Given the description of an element on the screen output the (x, y) to click on. 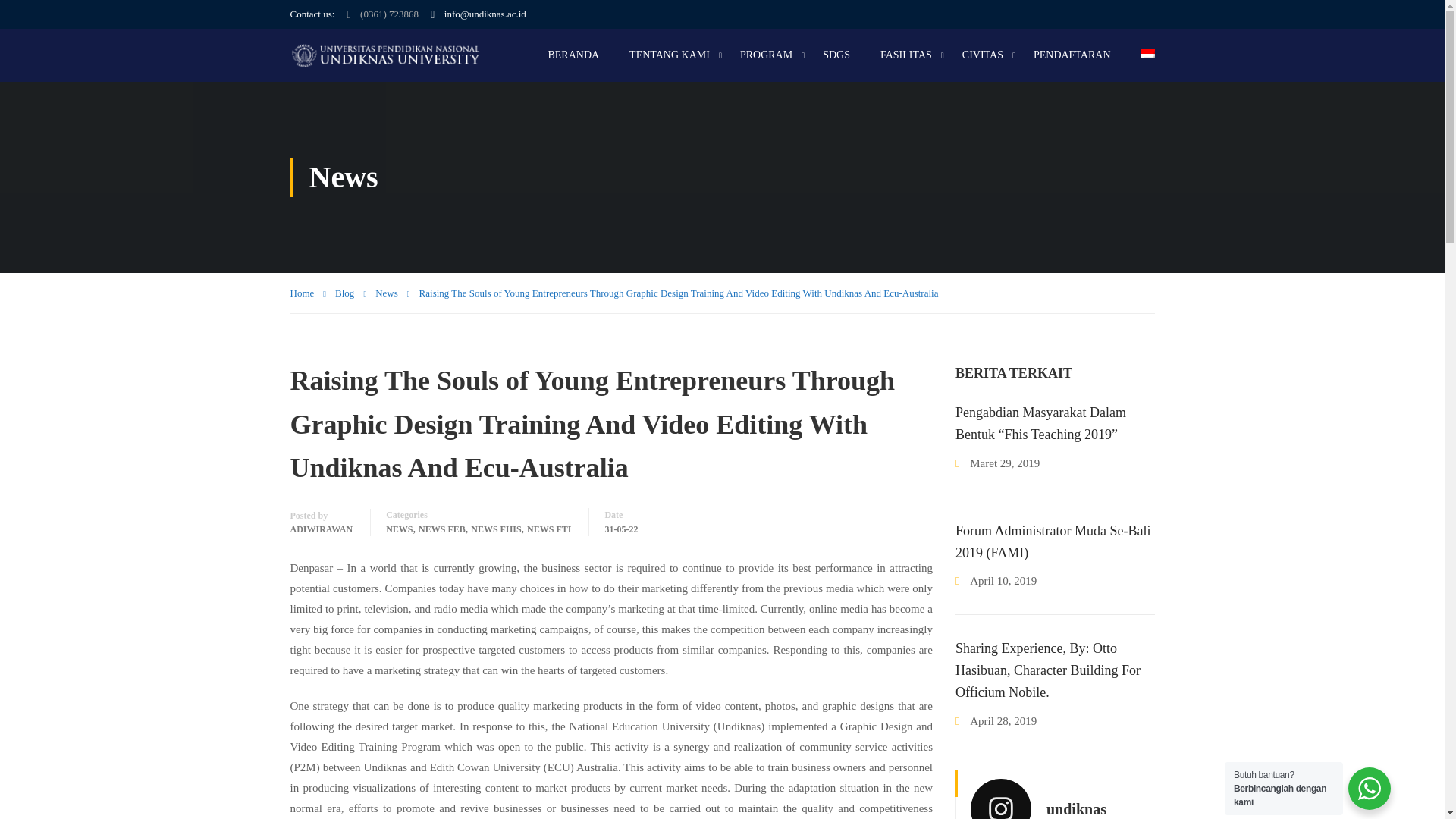
Universitas Pendidikan Nasional - Undiknas Kampus Milenial (384, 54)
